Given the description of an element on the screen output the (x, y) to click on. 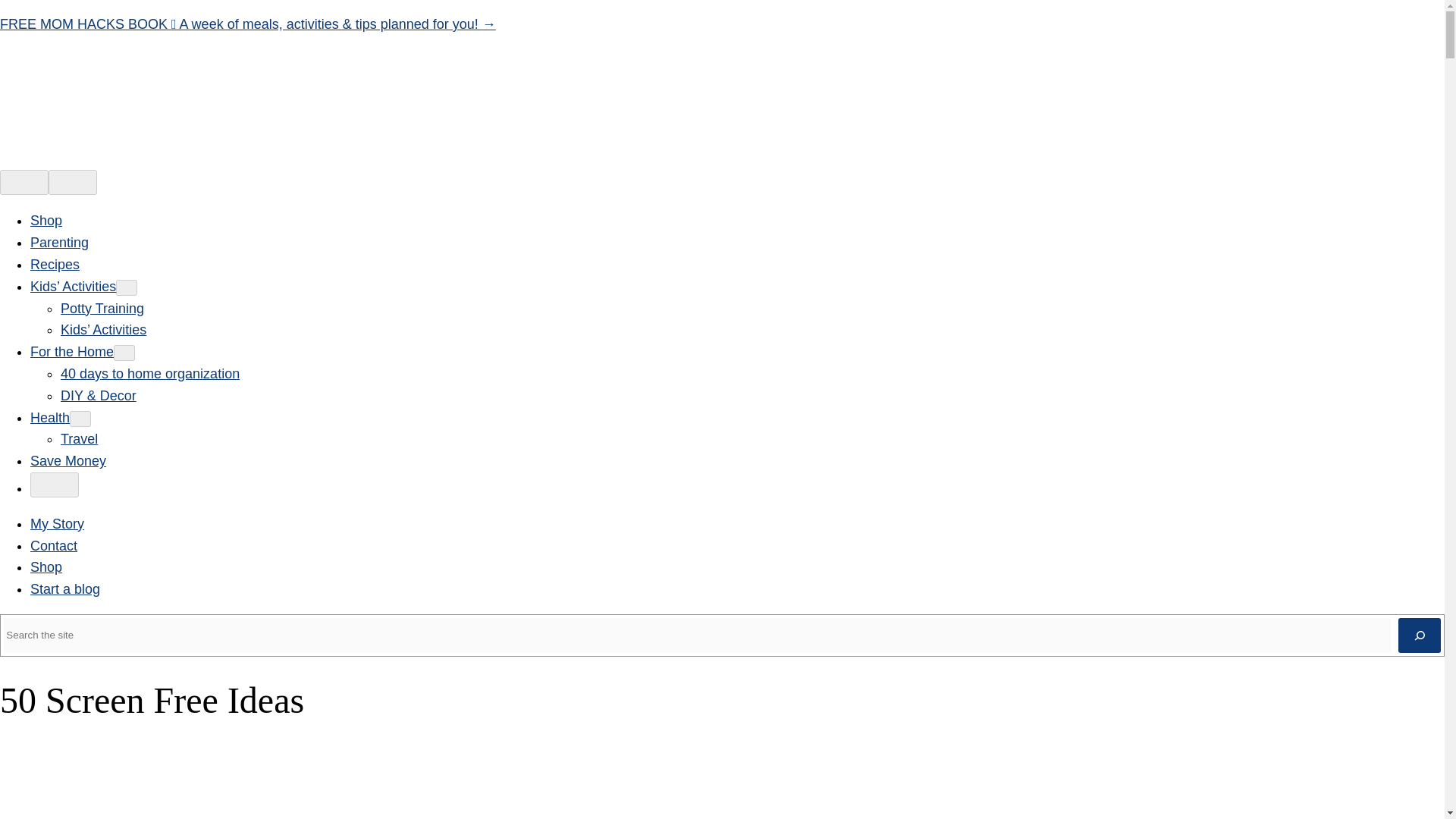
Becky Mansfield (69, 818)
Shop (46, 566)
Parenting (59, 242)
Health (49, 417)
Potty Training (102, 308)
For the Home (71, 351)
My Story (57, 523)
40 days to home organization (150, 373)
Shop (46, 220)
Start a blog (65, 589)
Recipes (55, 264)
Save Money (68, 460)
Contact (53, 545)
Travel (79, 438)
